Given the description of an element on the screen output the (x, y) to click on. 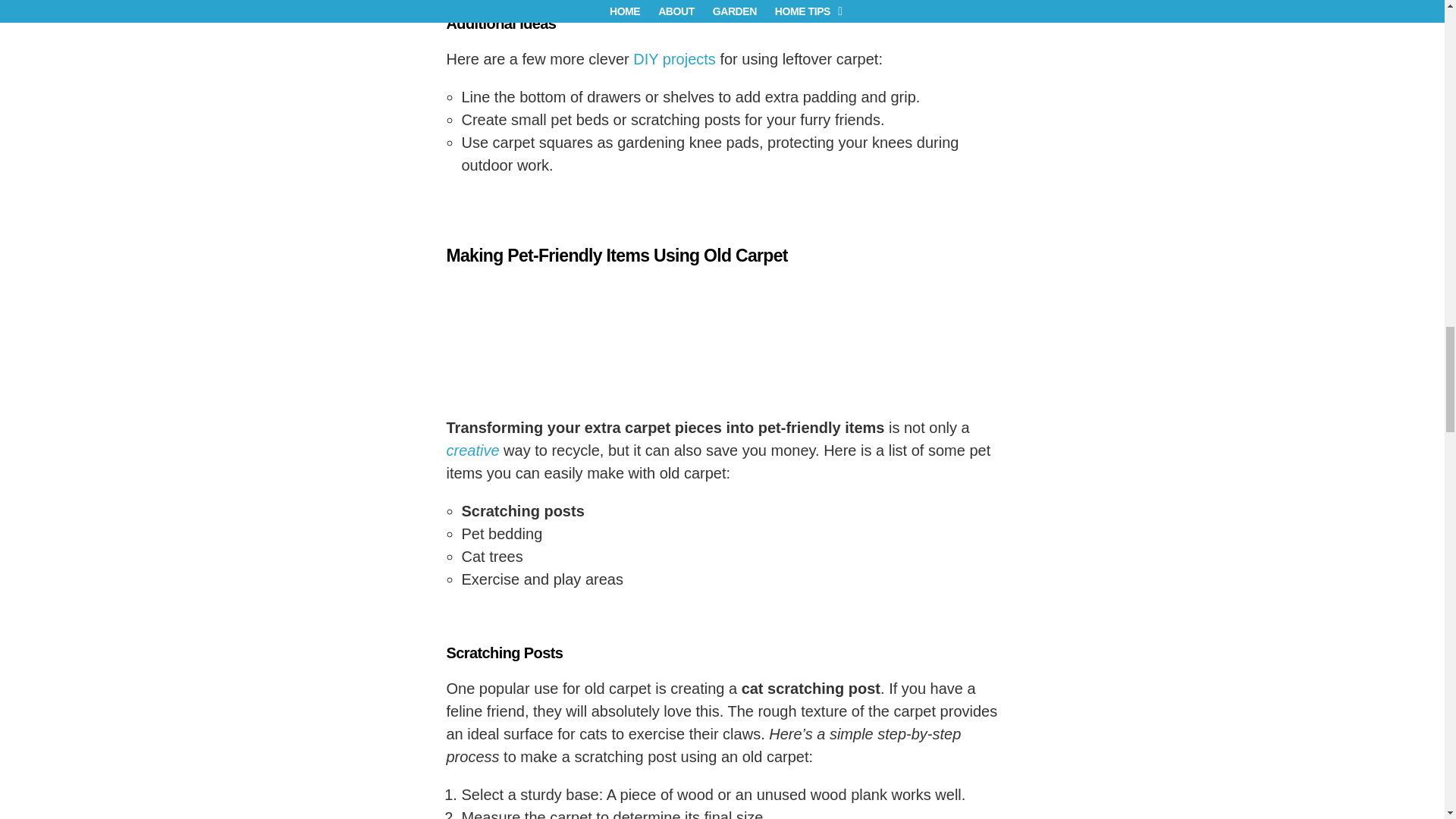
creative (472, 450)
DIY projects (674, 58)
Creative Ways to Use Extra Christmas Ornaments (472, 450)
